Given the description of an element on the screen output the (x, y) to click on. 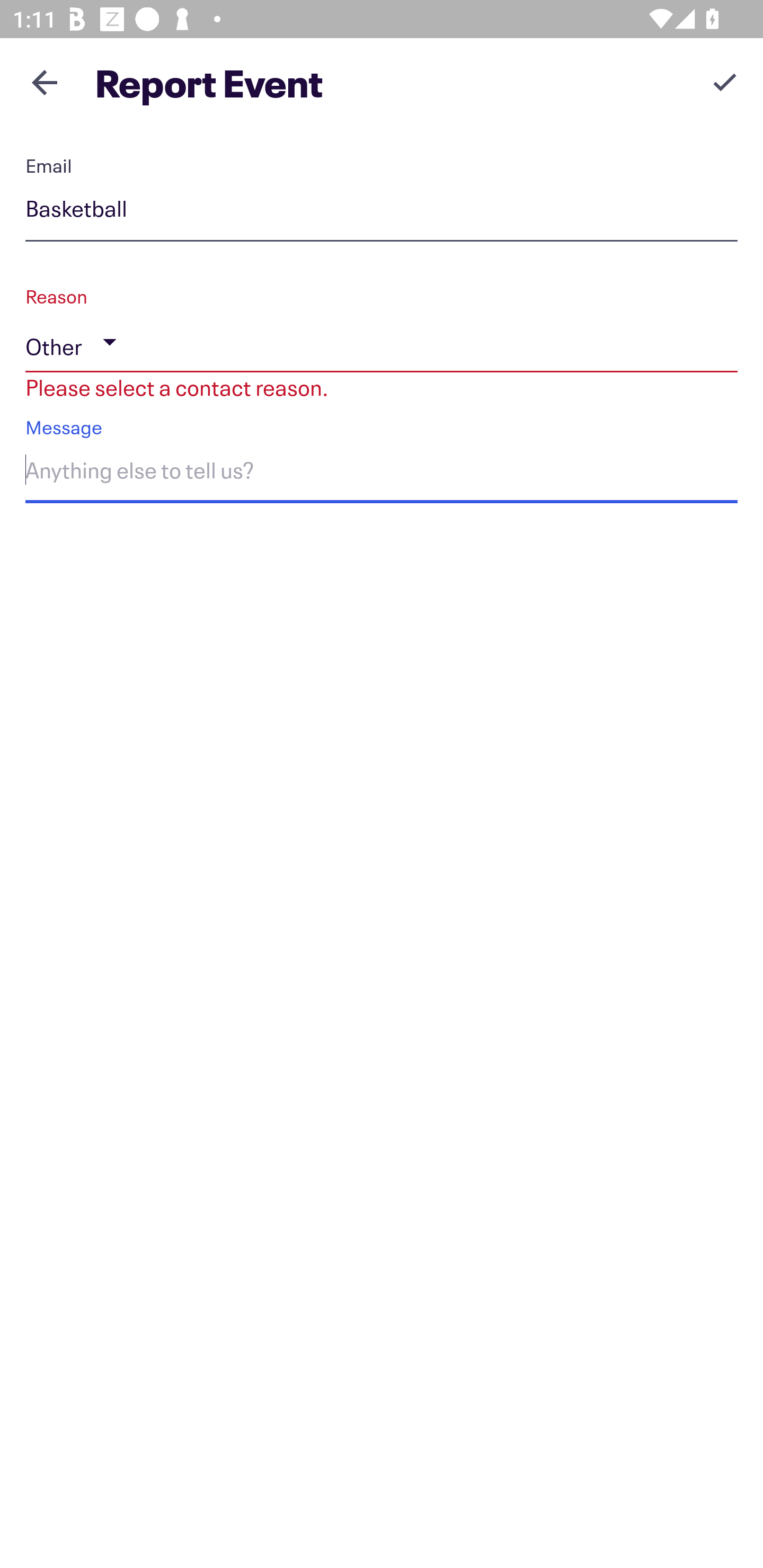
Navigate up (44, 82)
Save (724, 81)
Football (381, 211)
Other    (381, 342)
Anything else to tell us? (381, 473)
